Given the description of an element on the screen output the (x, y) to click on. 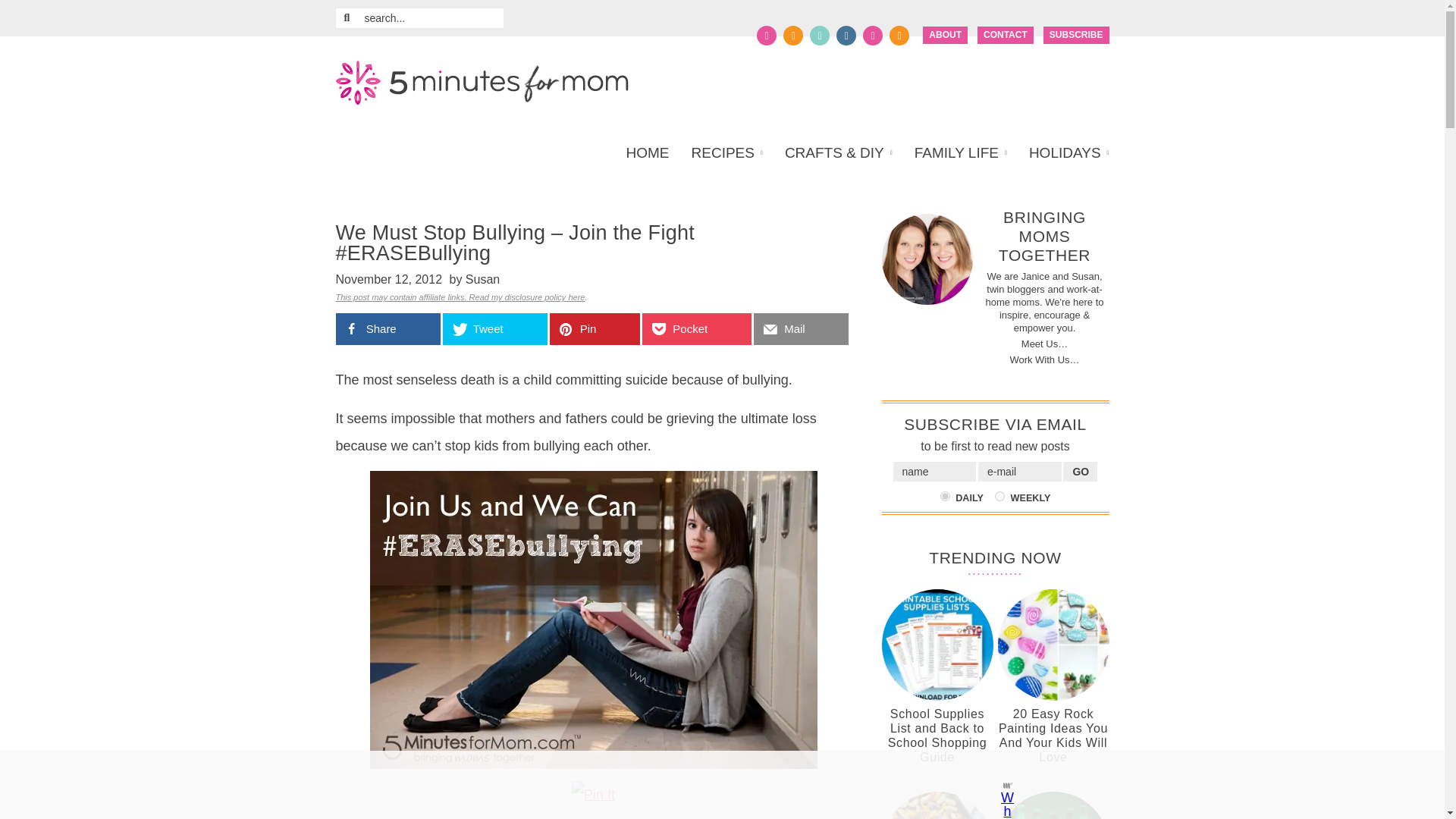
Follow 5 Minutes For Mom on Twitter (793, 35)
ABOUT (945, 35)
Go (1079, 471)
HOME (652, 153)
3rd party ad content (708, 785)
erase-bullying (592, 619)
Daily (945, 496)
Follow 5 Minutes For Mom via RSS (898, 35)
RECIPES (726, 153)
Weekly (999, 496)
SUBSCRIBE (1076, 35)
Pin It (593, 794)
Follow 5 Minutes For Mom on Instagram (845, 35)
CONTACT (1004, 35)
